Given the description of an element on the screen output the (x, y) to click on. 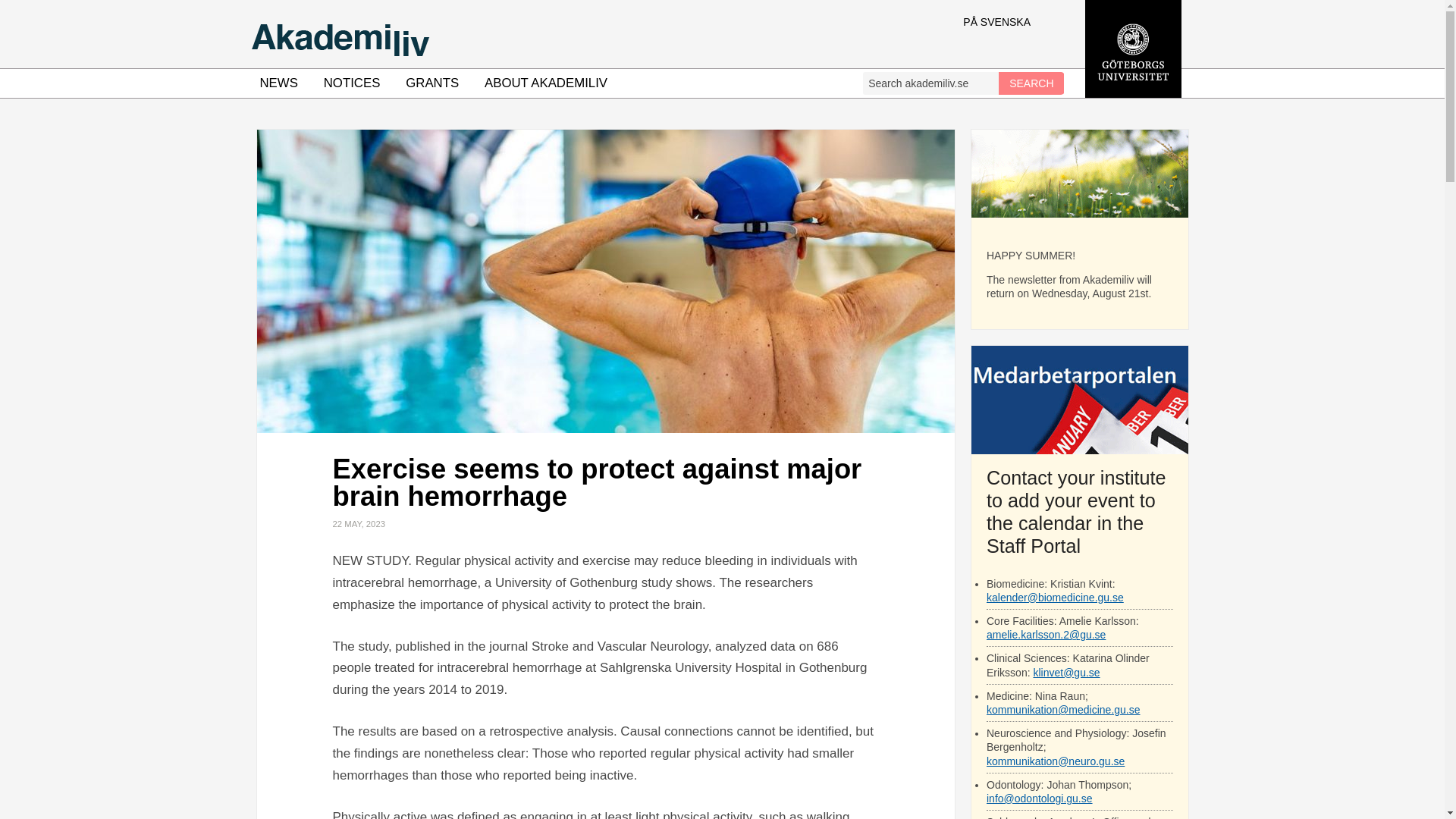
NEWS (278, 82)
University of Gothenburg (1132, 93)
NOTICES (352, 82)
Akademiliv (564, 33)
ABOUT AKADEMILIV (545, 82)
Search (1031, 83)
GRANTS (432, 82)
Search (1031, 83)
Search (1031, 83)
